Given the description of an element on the screen output the (x, y) to click on. 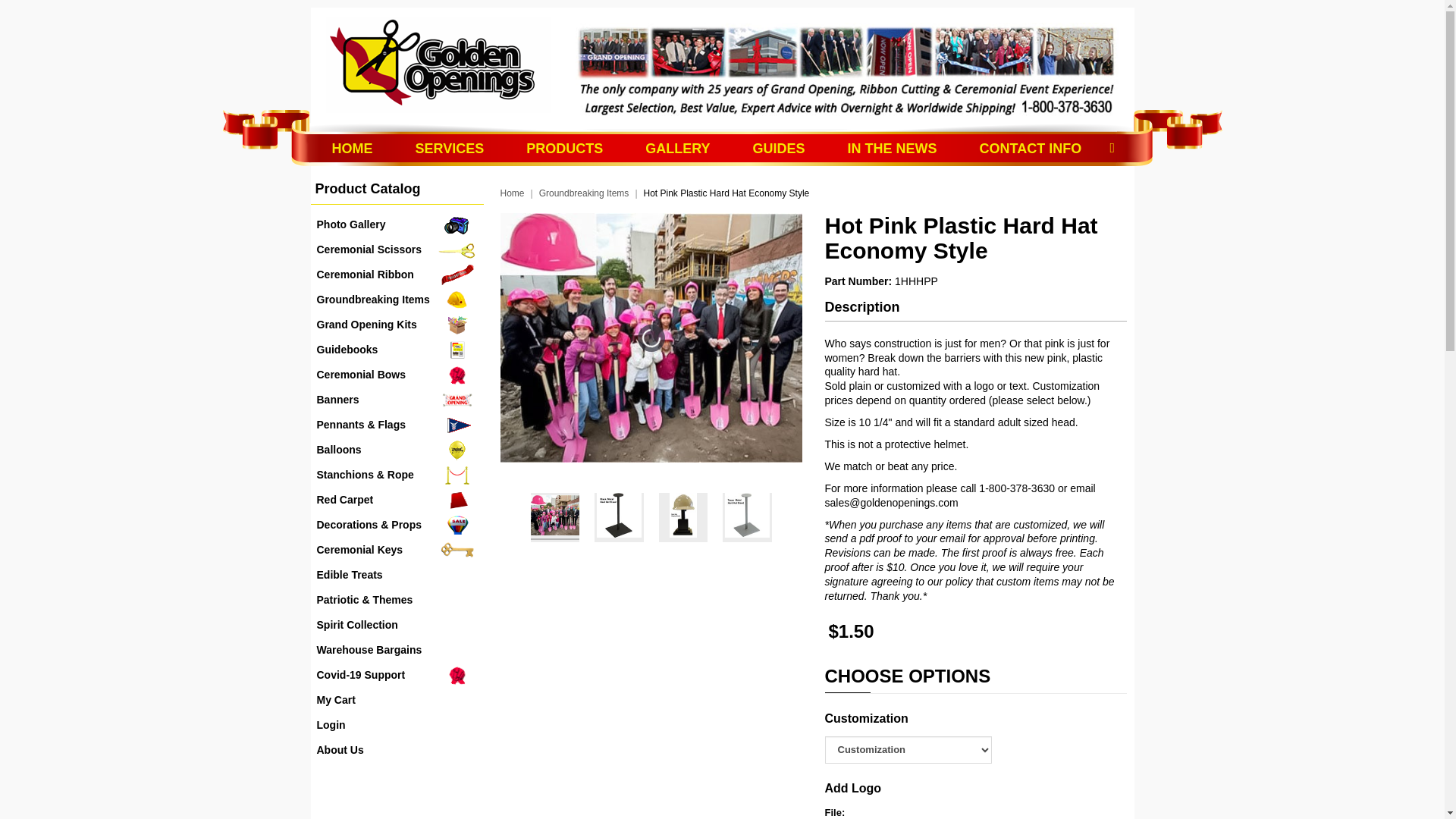
Ceremonial Scissors (397, 249)
PRODUCTS (563, 148)
CONTACT INFO (1030, 148)
GALLERY (677, 148)
Ceremonial Ribbon (397, 274)
SERVICES (449, 148)
IN THE NEWS (892, 148)
HOME (351, 148)
